Given the description of an element on the screen output the (x, y) to click on. 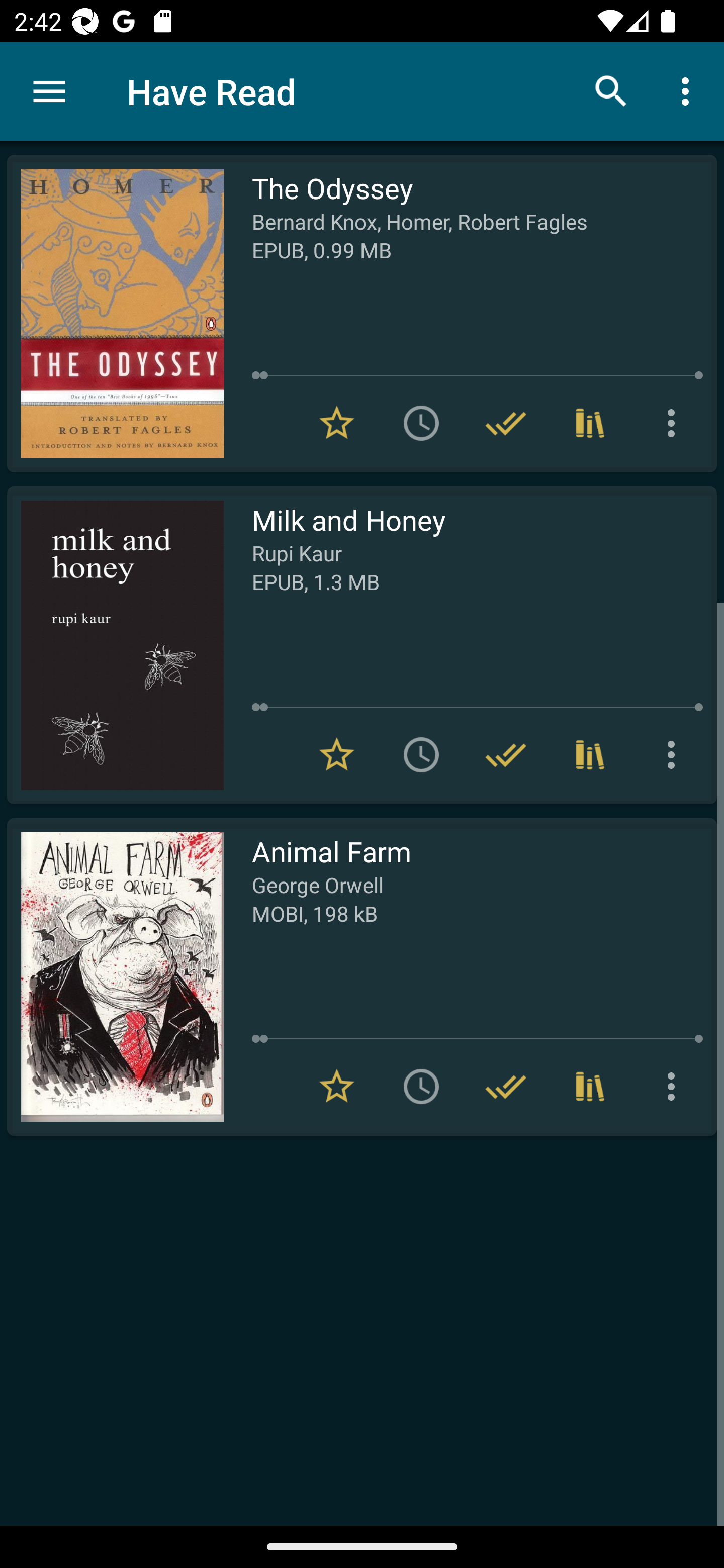
Menu (49, 91)
Search books & documents (611, 90)
More options (688, 90)
Read The Odyssey (115, 313)
Remove from Favorites (336, 423)
Add to To read (421, 423)
Remove from Have read (505, 423)
Collections (3) (590, 423)
More options (674, 423)
Read Milk and Honey (115, 645)
Remove from Favorites (336, 753)
Add to To read (421, 753)
Remove from Have read (505, 753)
Collections (4) (590, 753)
More options (674, 753)
Read Animal Farm (115, 976)
Remove from Favorites (336, 1086)
Add to To read (421, 1086)
Remove from Have read (505, 1086)
Collections (2) (590, 1086)
More options (674, 1086)
